Given the description of an element on the screen output the (x, y) to click on. 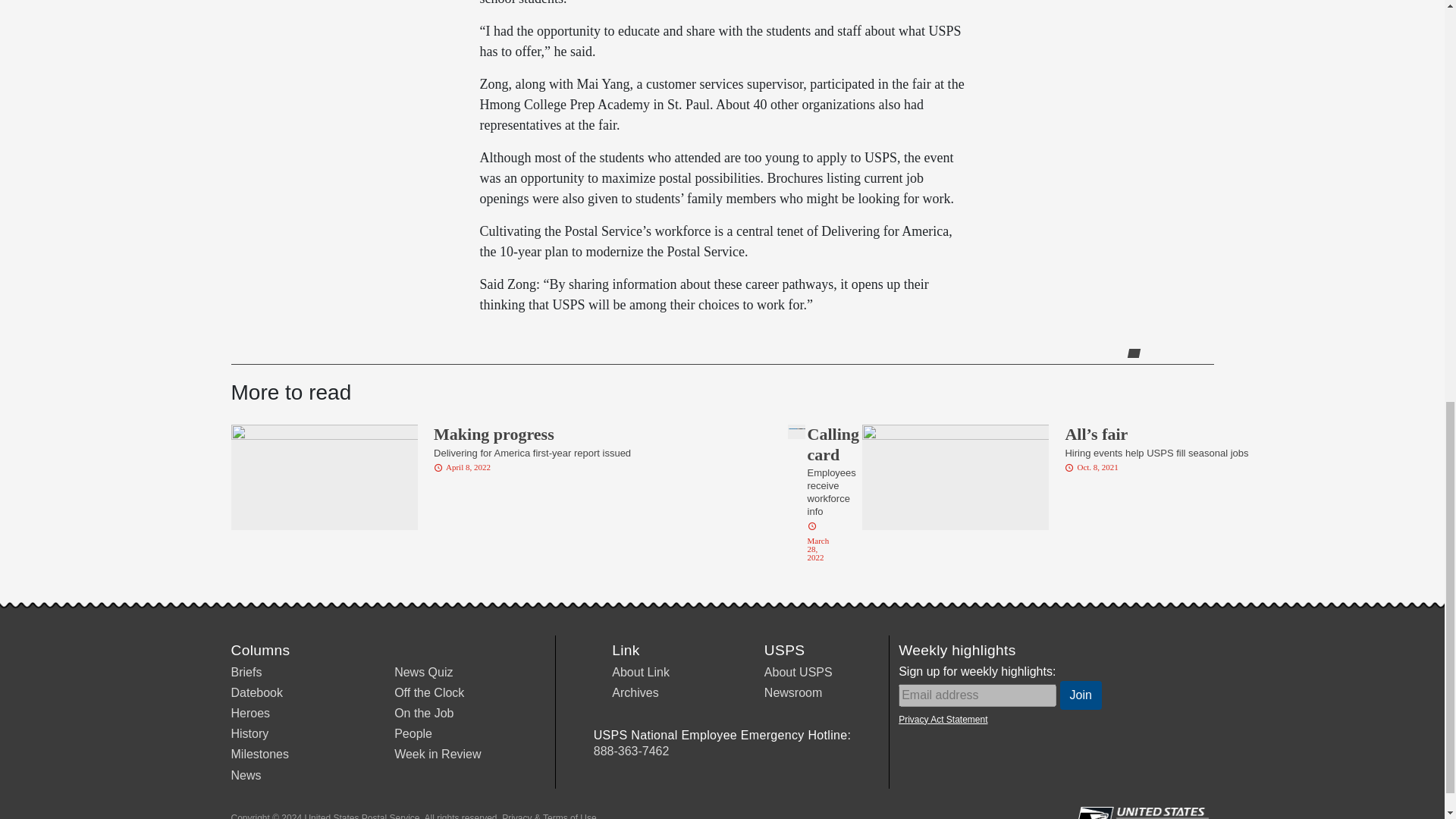
Join (1080, 695)
Milestones (259, 753)
On the Job (423, 712)
Archives (634, 692)
About Link (640, 671)
News Quiz (423, 671)
Off the Clock (429, 692)
Briefs (246, 671)
People (413, 733)
